Given the description of an element on the screen output the (x, y) to click on. 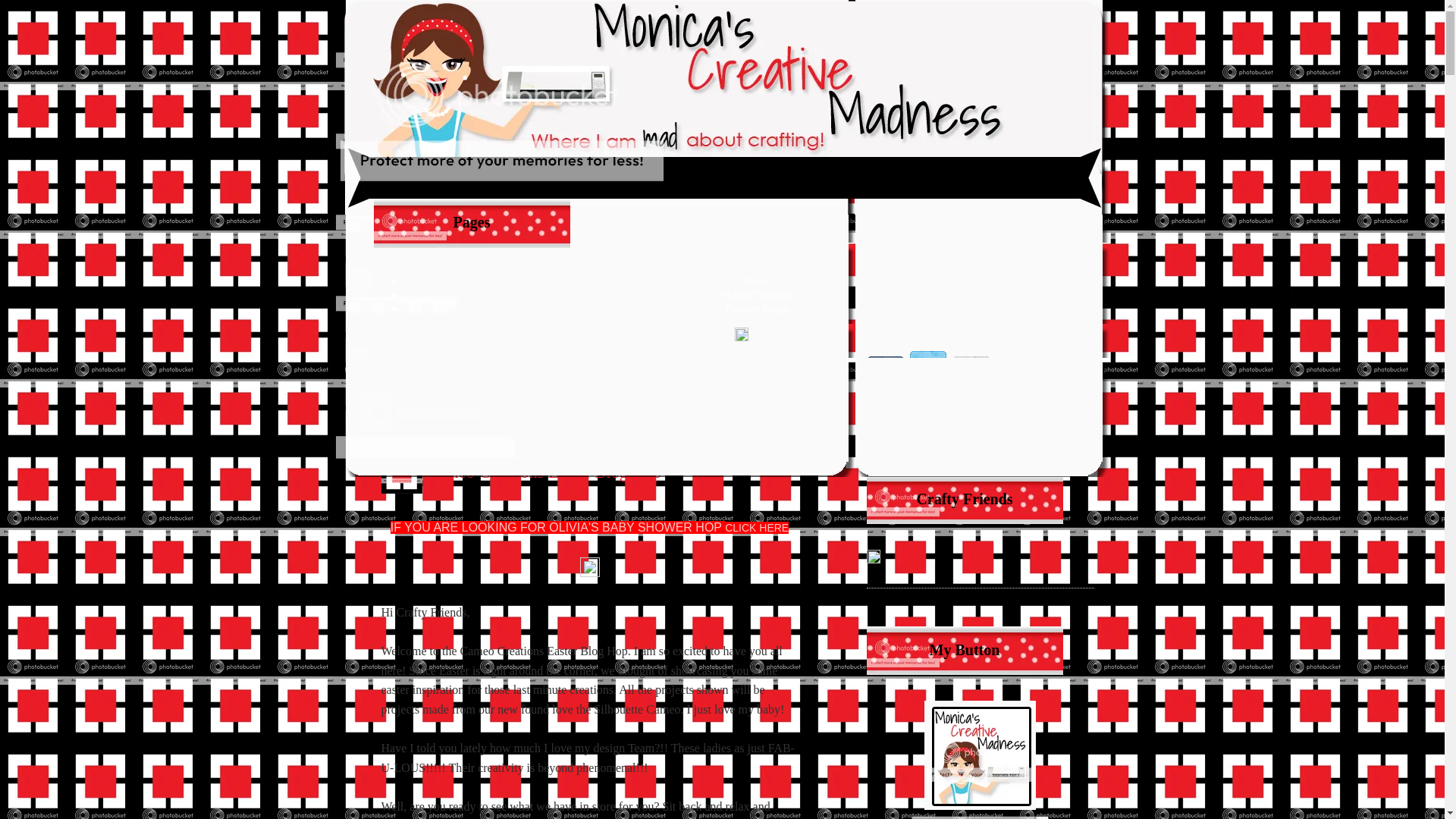
Home (755, 281)
Favorite Blogs (756, 308)
CLICK HERE (757, 527)
Edit (740, 337)
